Given the description of an element on the screen output the (x, y) to click on. 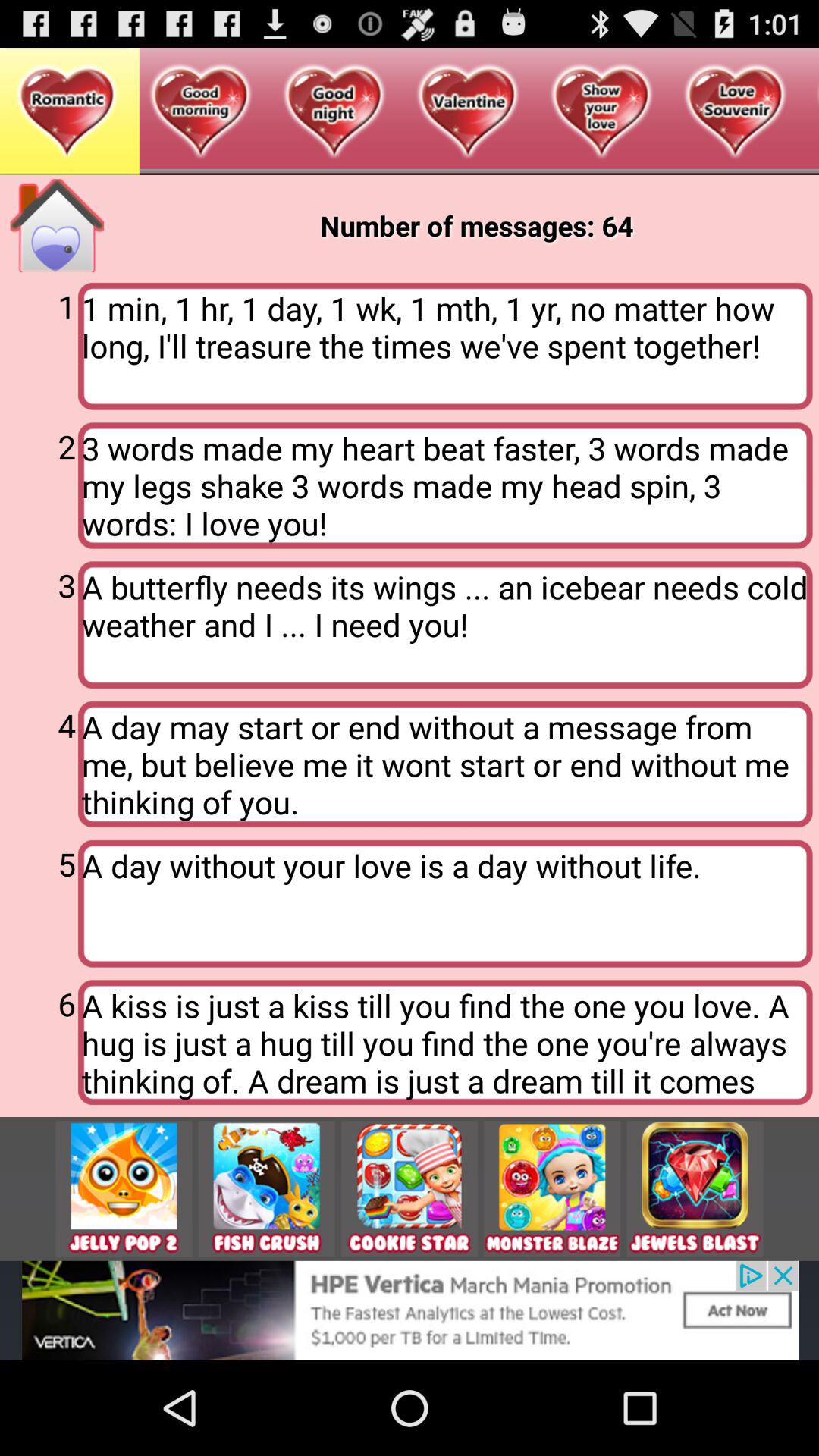
go to advertisement website (266, 1188)
